Given the description of an element on the screen output the (x, y) to click on. 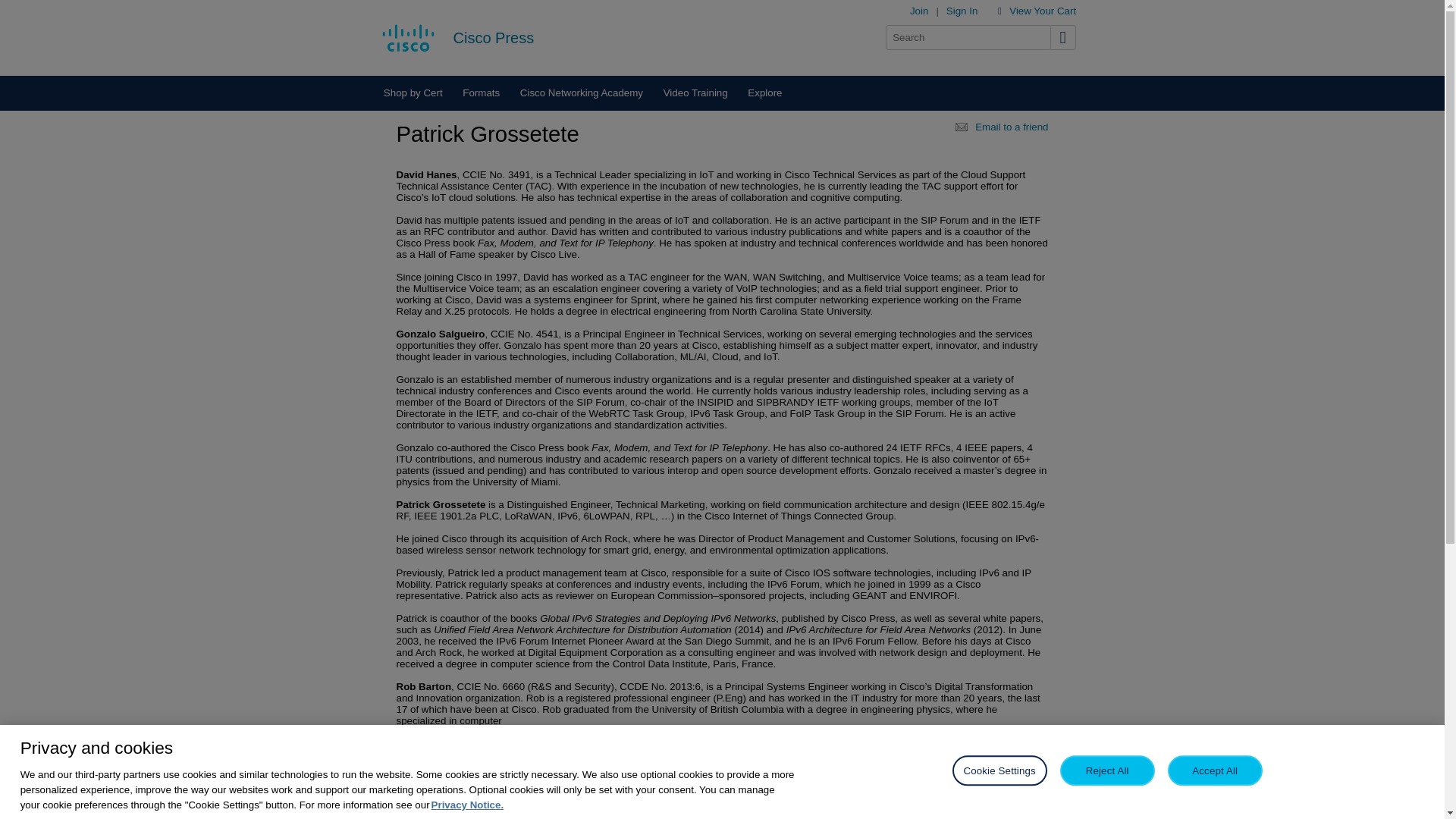
Explore (765, 92)
Sign In (962, 10)
Video Training (695, 92)
View Your Cart (1042, 10)
Cisco Networking Academy (580, 92)
Cisco.com (408, 37)
Formats (481, 92)
Join (919, 10)
Shop by Cert (411, 92)
